Given the description of an element on the screen output the (x, y) to click on. 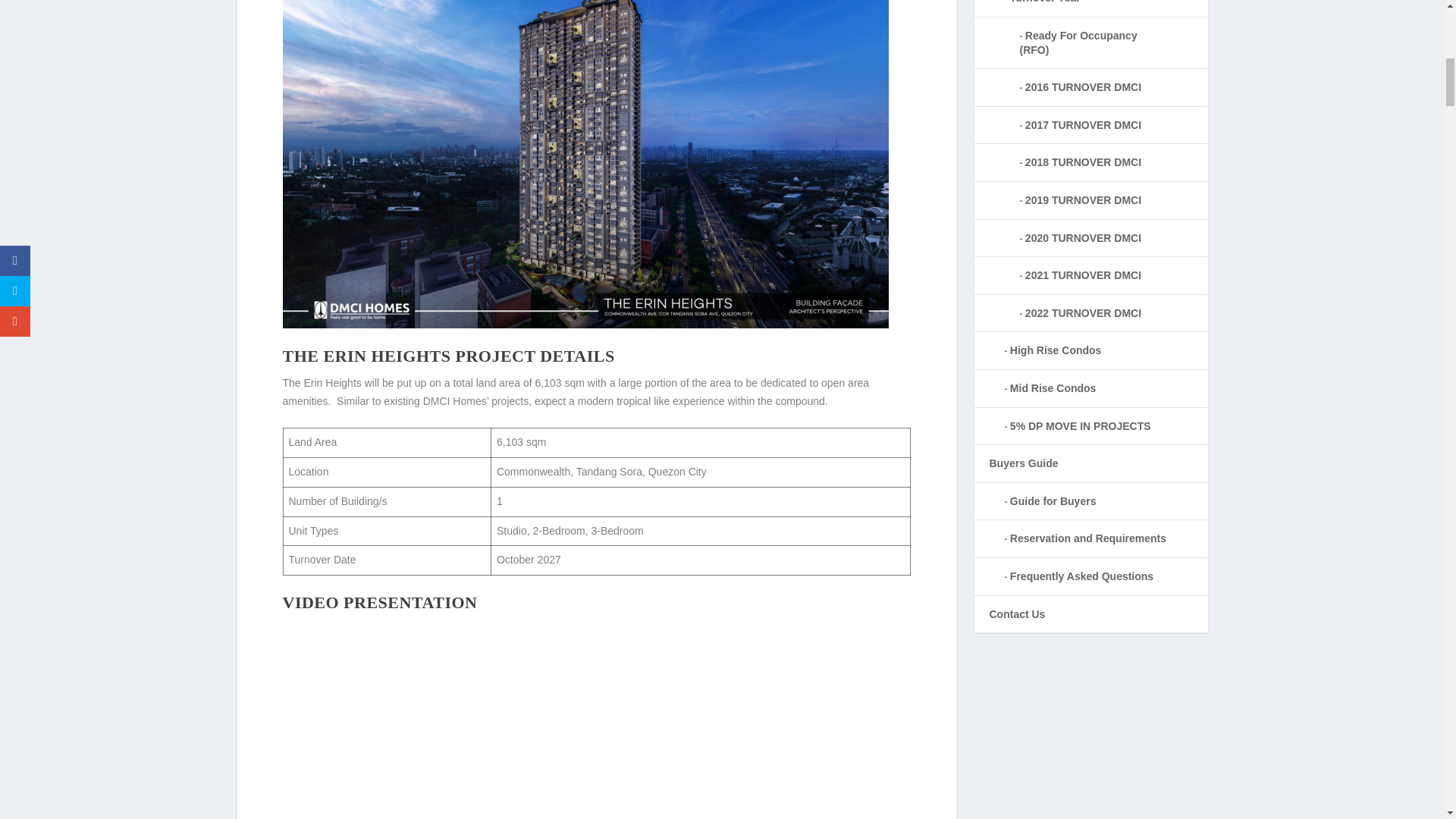
The Erin Heights Commonwealth QC by DMCI Homes (596, 720)
